Given the description of an element on the screen output the (x, y) to click on. 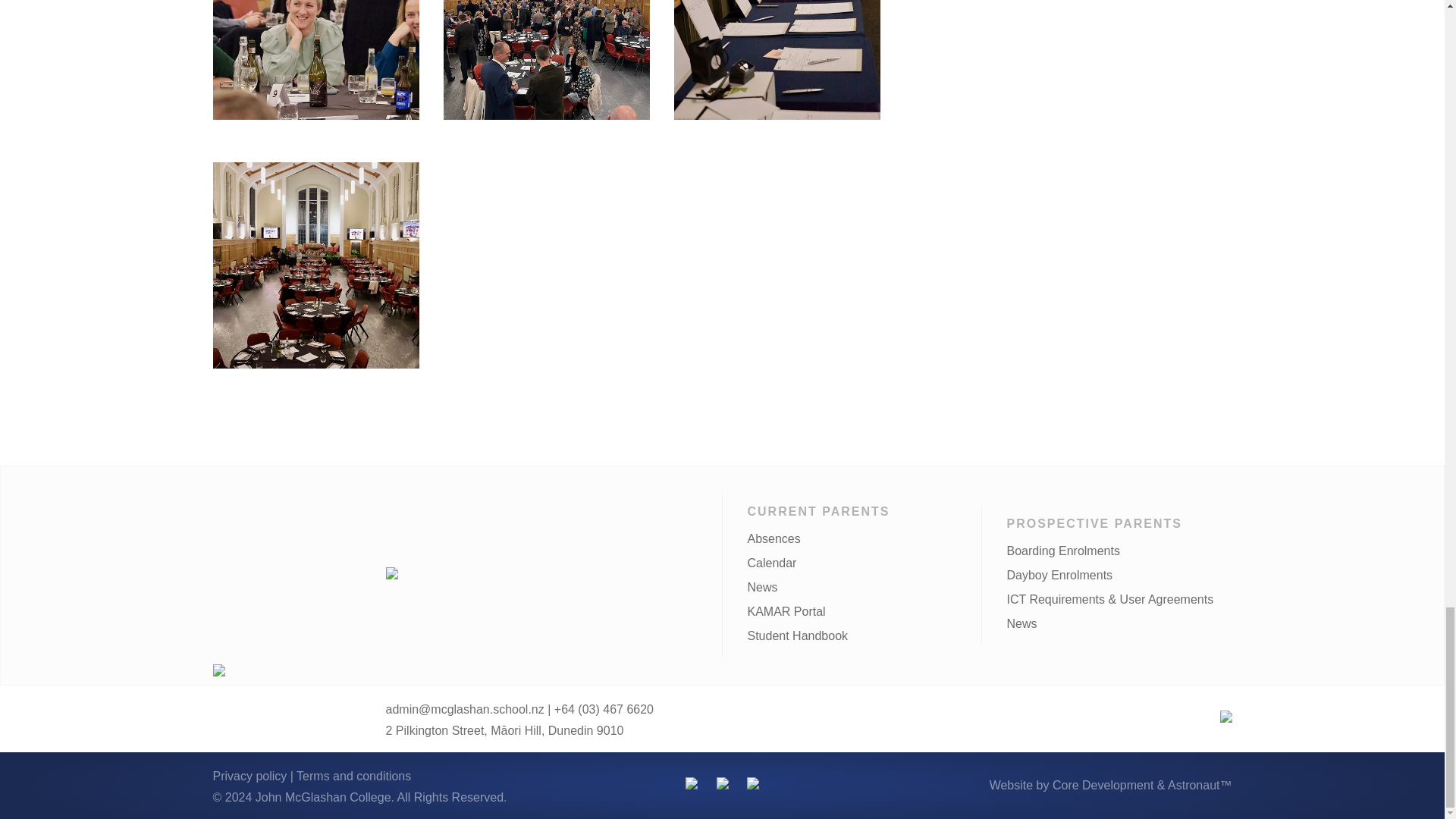
Absences (772, 538)
Boarding Enrolments (1062, 550)
Calendar (771, 562)
KAMAR Portal (785, 611)
Student Handbook (796, 635)
News (761, 586)
